Given the description of an element on the screen output the (x, y) to click on. 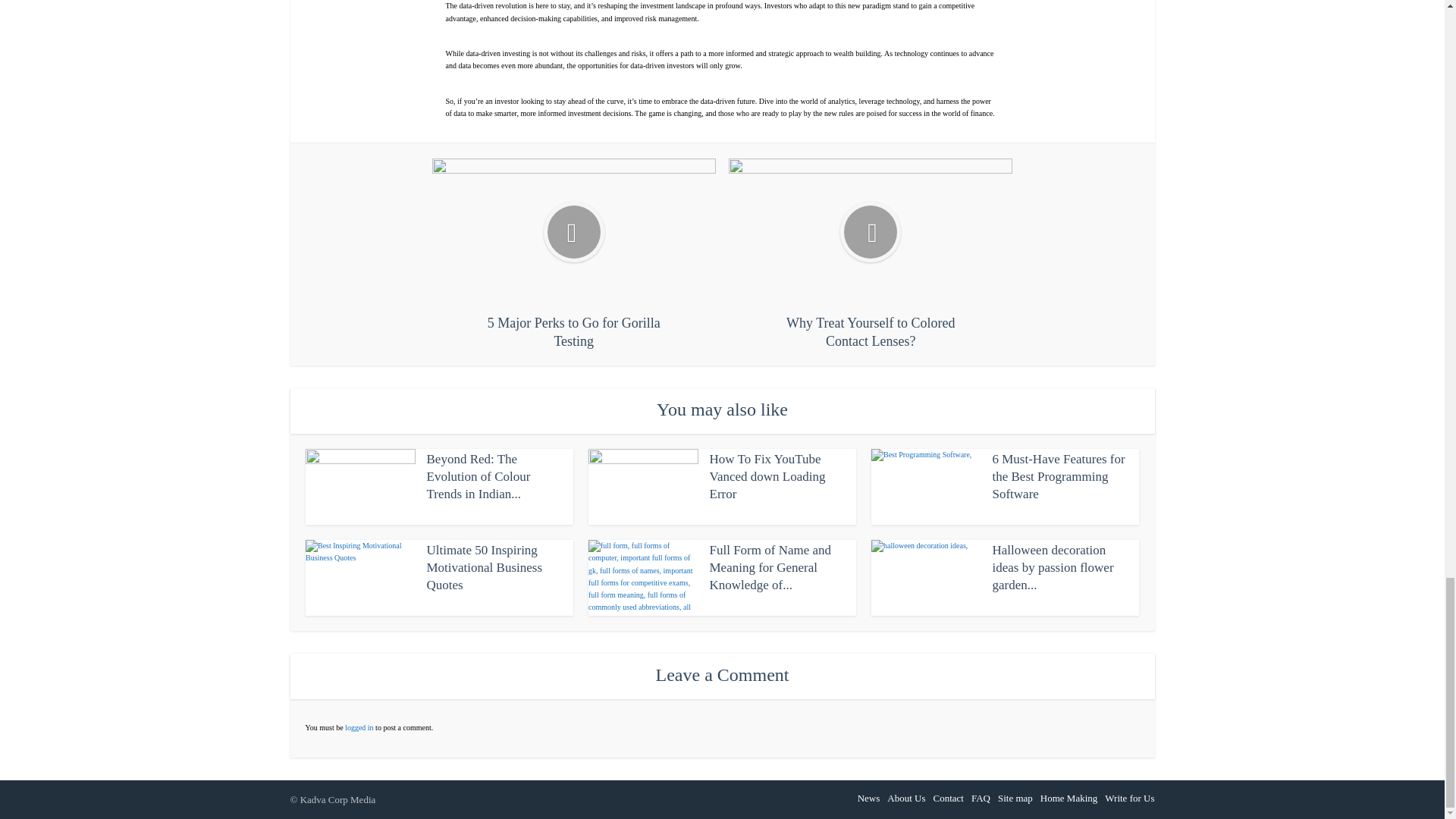
Halloween decoration ideas by passion flower garden lights (1052, 567)
5 Major Perks to Go for Gorilla Testing (574, 253)
Ultimate 50 Inspiring Motivational Business Quotes (483, 567)
Why Treat Yourself to Colored Contact Lenses? (870, 253)
Ultimate 50 Inspiring Motivational Business Quotes (483, 567)
How To Fix YouTube Vanced down Loading Error (767, 476)
6 Must-Have Features for the Best Programming Software (1057, 476)
Beyond Red: The Evolution of Colour Trends in Indian... (477, 476)
6 Must-Have Features for the Best Programming Software (1057, 476)
How To Fix YouTube Vanced down Loading Error (767, 476)
